Given the description of an element on the screen output the (x, y) to click on. 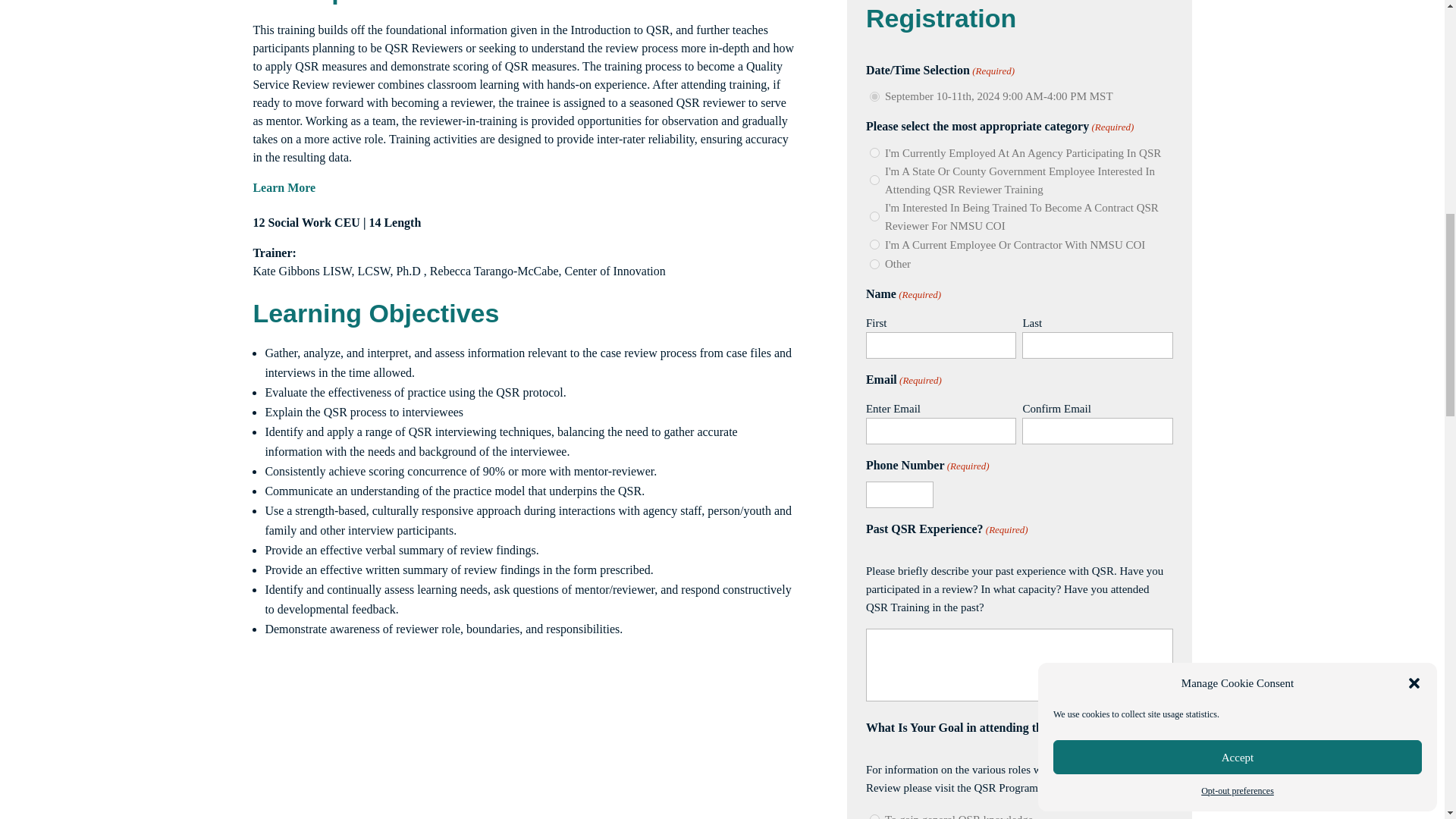
I'm Currently Employed At An Agency Participating In QSR (874, 153)
I'm A Current Employee Or Contractor With NMSU COI (874, 244)
September 10-11th, 2024 9:00 AM-4:00 PM MST (874, 96)
Other (874, 264)
To gain general QSR knowledge (874, 816)
